Given the description of an element on the screen output the (x, y) to click on. 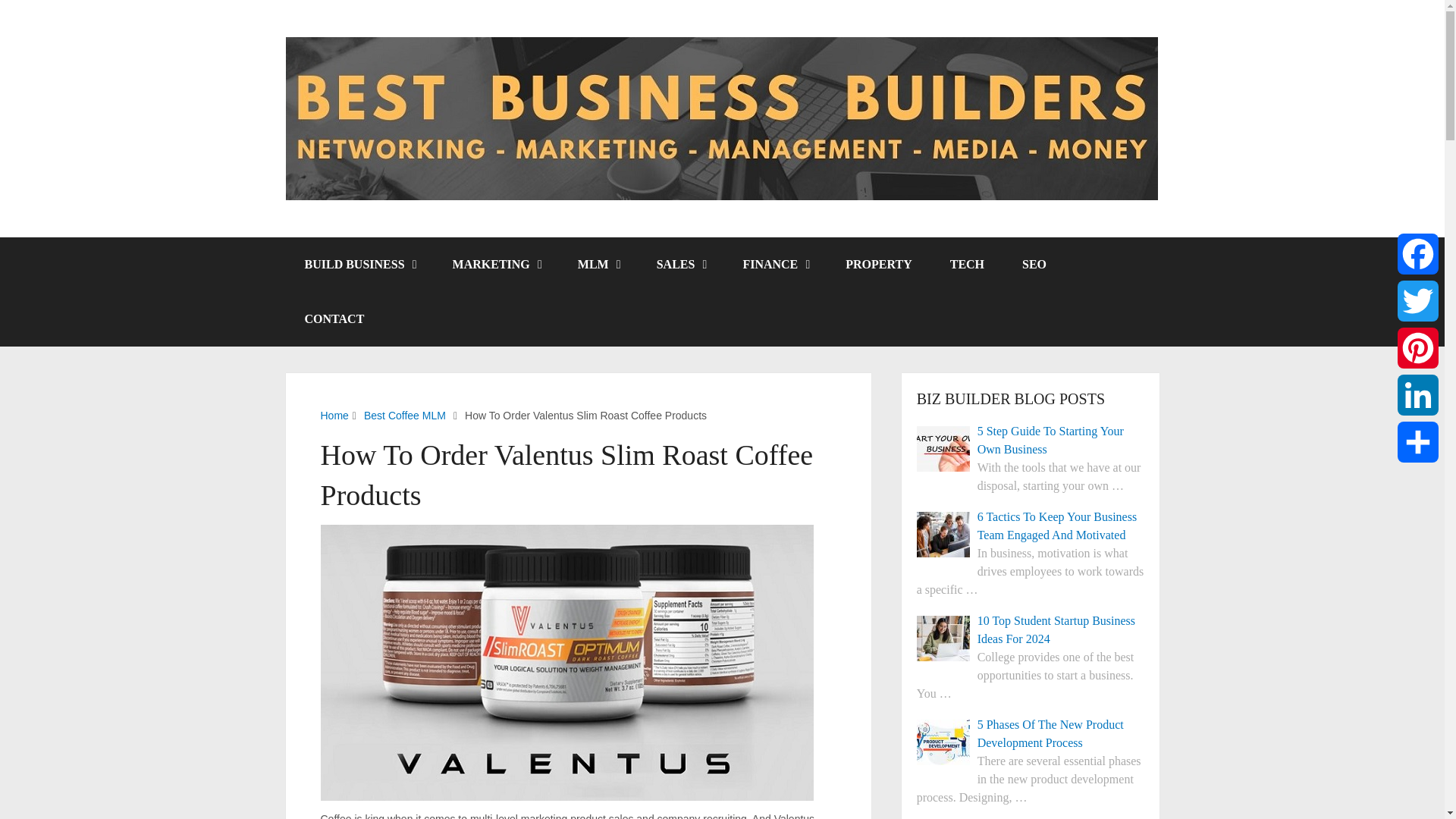
MARKETING (496, 264)
TECH (967, 264)
5 Step Guide To Starting Your Own Business (943, 448)
Best Coffee MLM (404, 415)
BUILD BUSINESS (358, 264)
6 Tactics To Keep Your Business Team Engaged And Motivated (943, 534)
SALES (680, 264)
CONTACT (333, 318)
5 Step Guide To Starting Your Own Business (1030, 440)
MLM (598, 264)
